Given the description of an element on the screen output the (x, y) to click on. 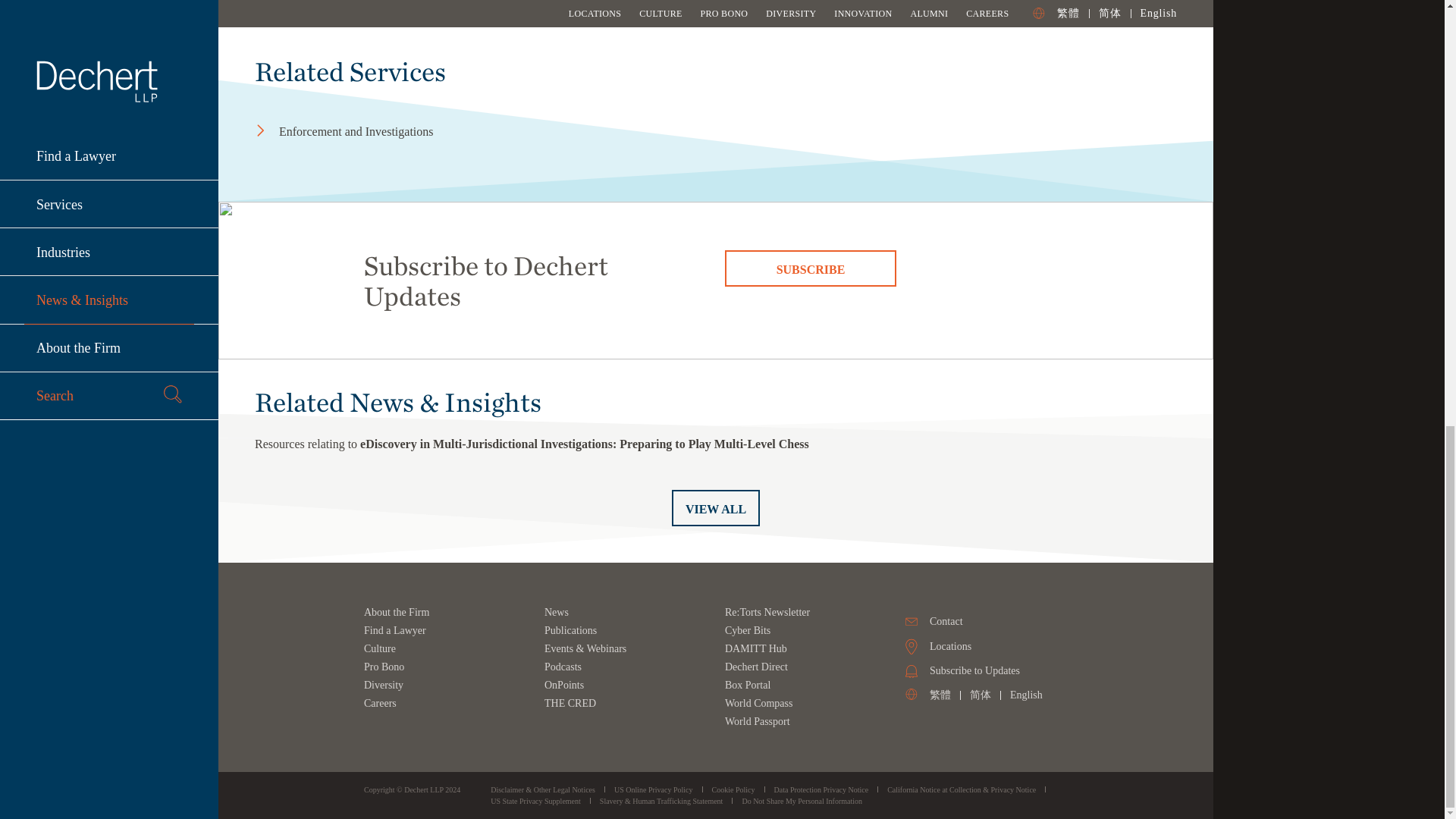
Simplified Chinese (980, 695)
Traditional Chinese (940, 695)
SUBSCRIBE (810, 268)
VIEW ALL (715, 507)
Culture (380, 648)
Find a Lawyer (395, 630)
About the Firm (396, 612)
Enforcement and Investigations (404, 131)
